Given the description of an element on the screen output the (x, y) to click on. 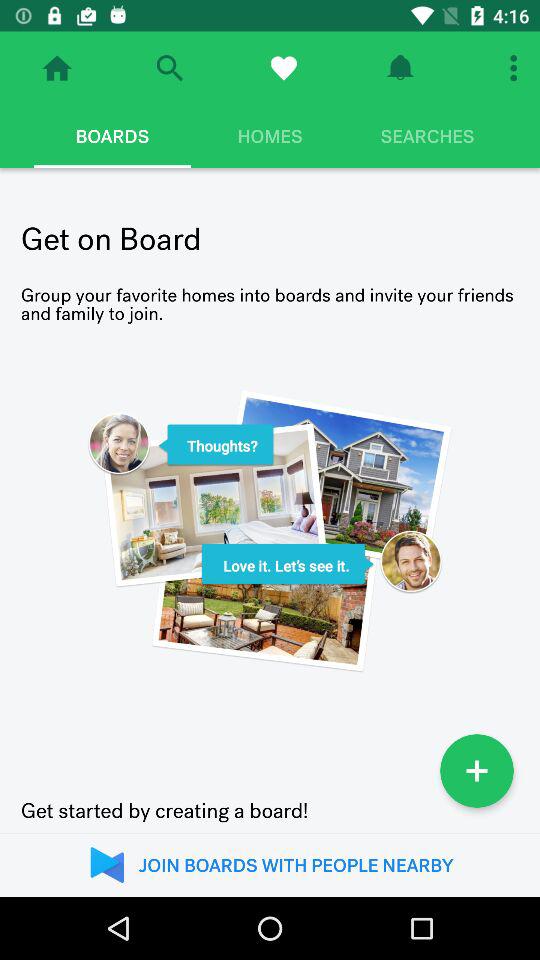
like buttion (283, 68)
